Given the description of an element on the screen output the (x, y) to click on. 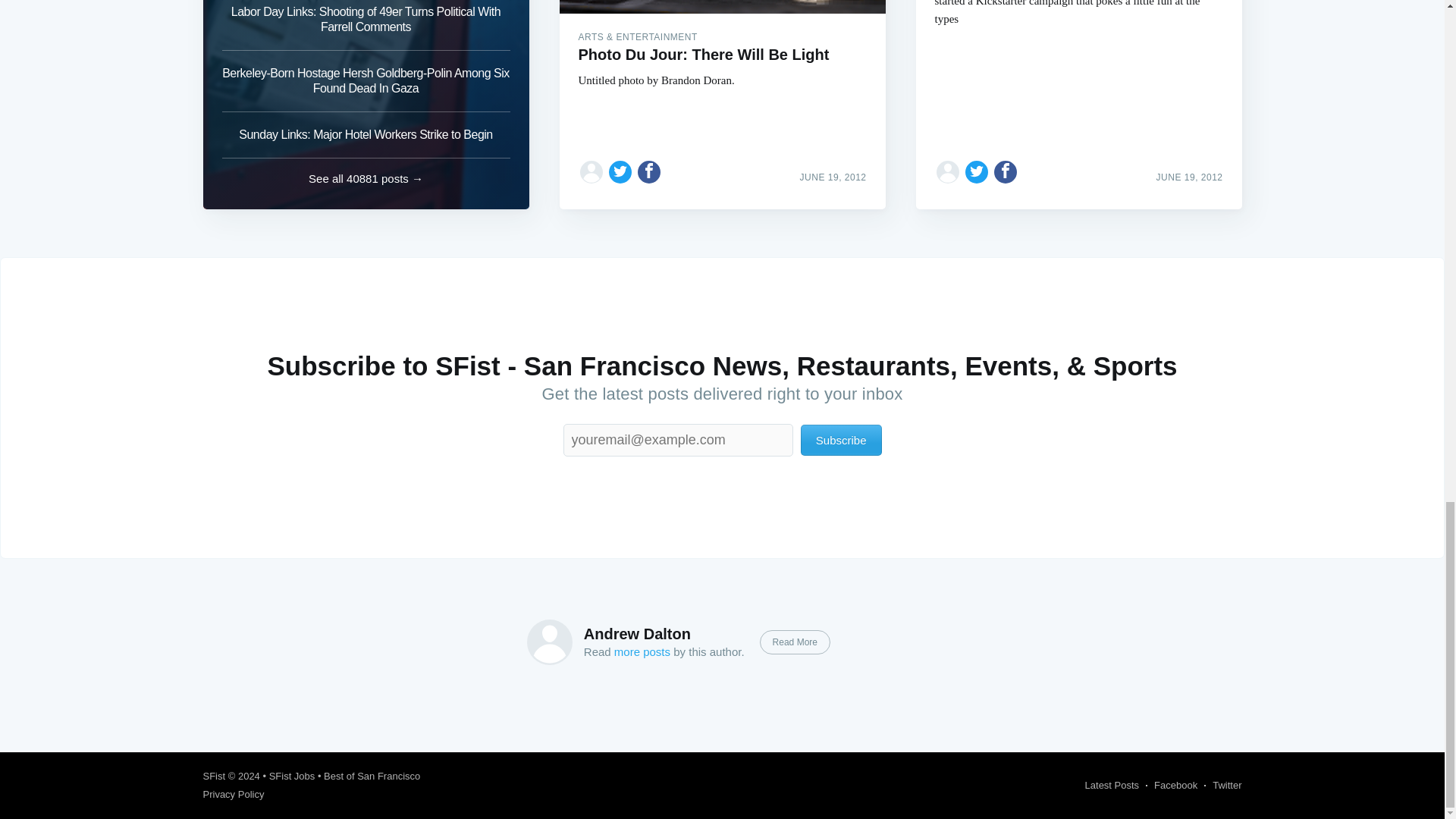
Share on Twitter (976, 171)
Sunday Links: Major Hotel Workers Strike to Begin (365, 135)
Share on Facebook (1004, 171)
Share on Twitter (620, 171)
Subscribe (841, 440)
Andrew Dalton (636, 633)
Share on Facebook (649, 171)
more posts (641, 651)
